Given the description of an element on the screen output the (x, y) to click on. 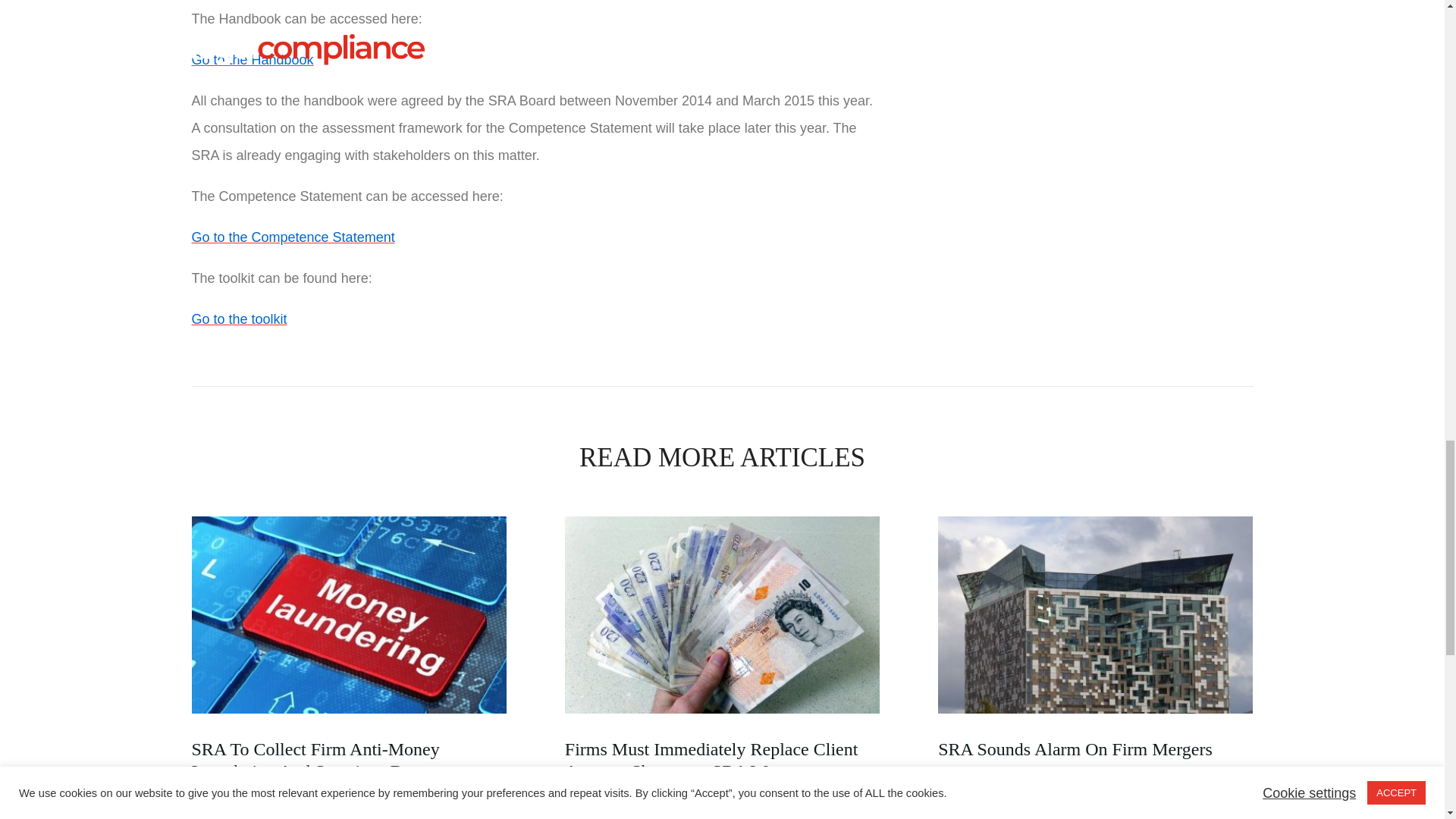
Go to the Handbook (251, 59)
Go to the Competence Statement (292, 237)
Go to the toolkit (238, 319)
